Given the description of an element on the screen output the (x, y) to click on. 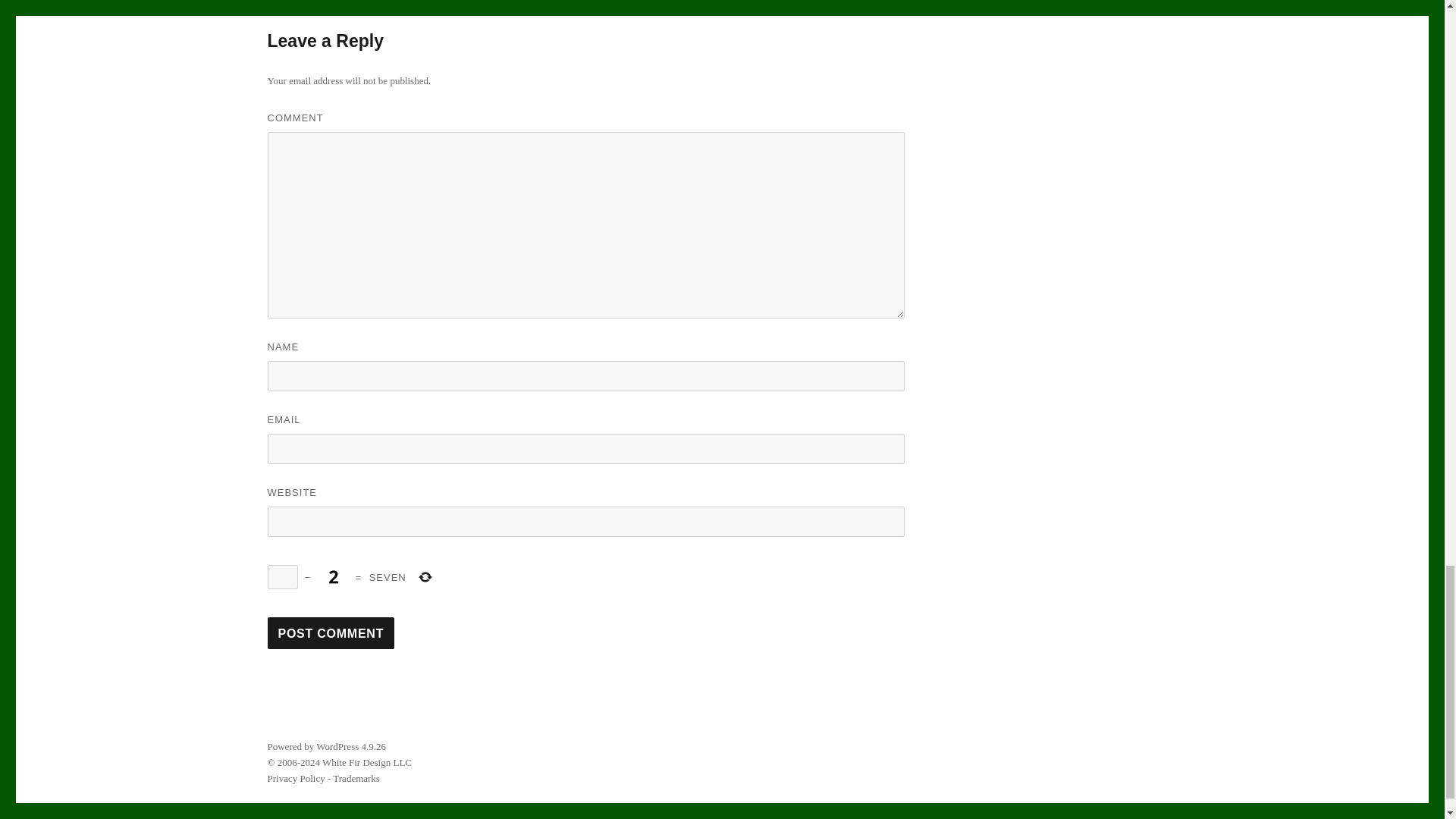
Post Comment (330, 633)
Post Comment (330, 633)
